Given the description of an element on the screen output the (x, y) to click on. 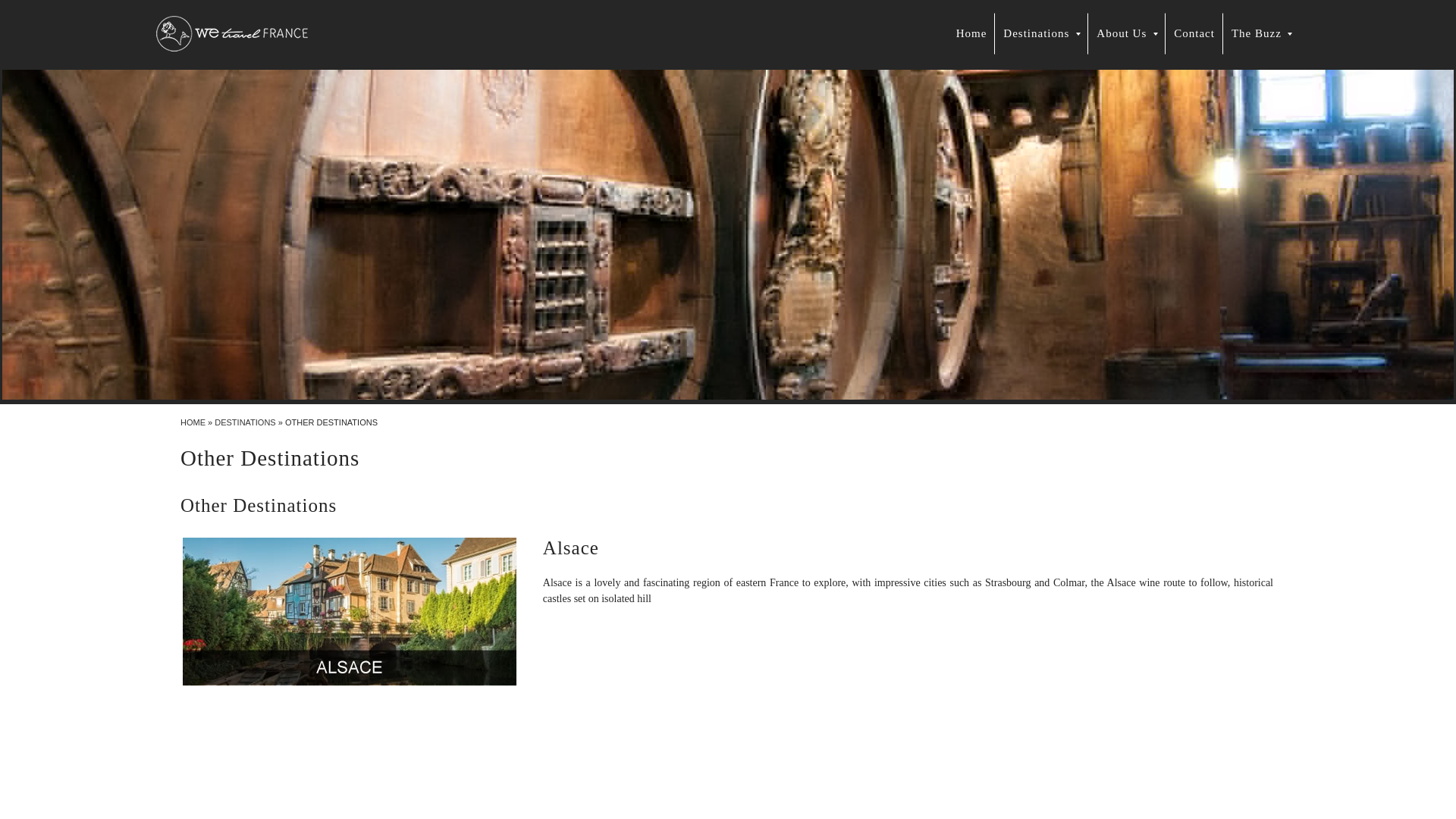
Destinations - We Travel France (1040, 33)
About Us (1126, 33)
Home (972, 33)
DESTINATIONS (244, 421)
The Buzz (1261, 33)
The Buzz - We Travel France (1261, 33)
Contact (1194, 33)
We Travel France (192, 421)
Contact - We Travel France (1194, 33)
About Us - We Travel France (1126, 33)
 - We Travel France (972, 33)
Destinations (1040, 33)
HOME (192, 421)
